Given the description of an element on the screen output the (x, y) to click on. 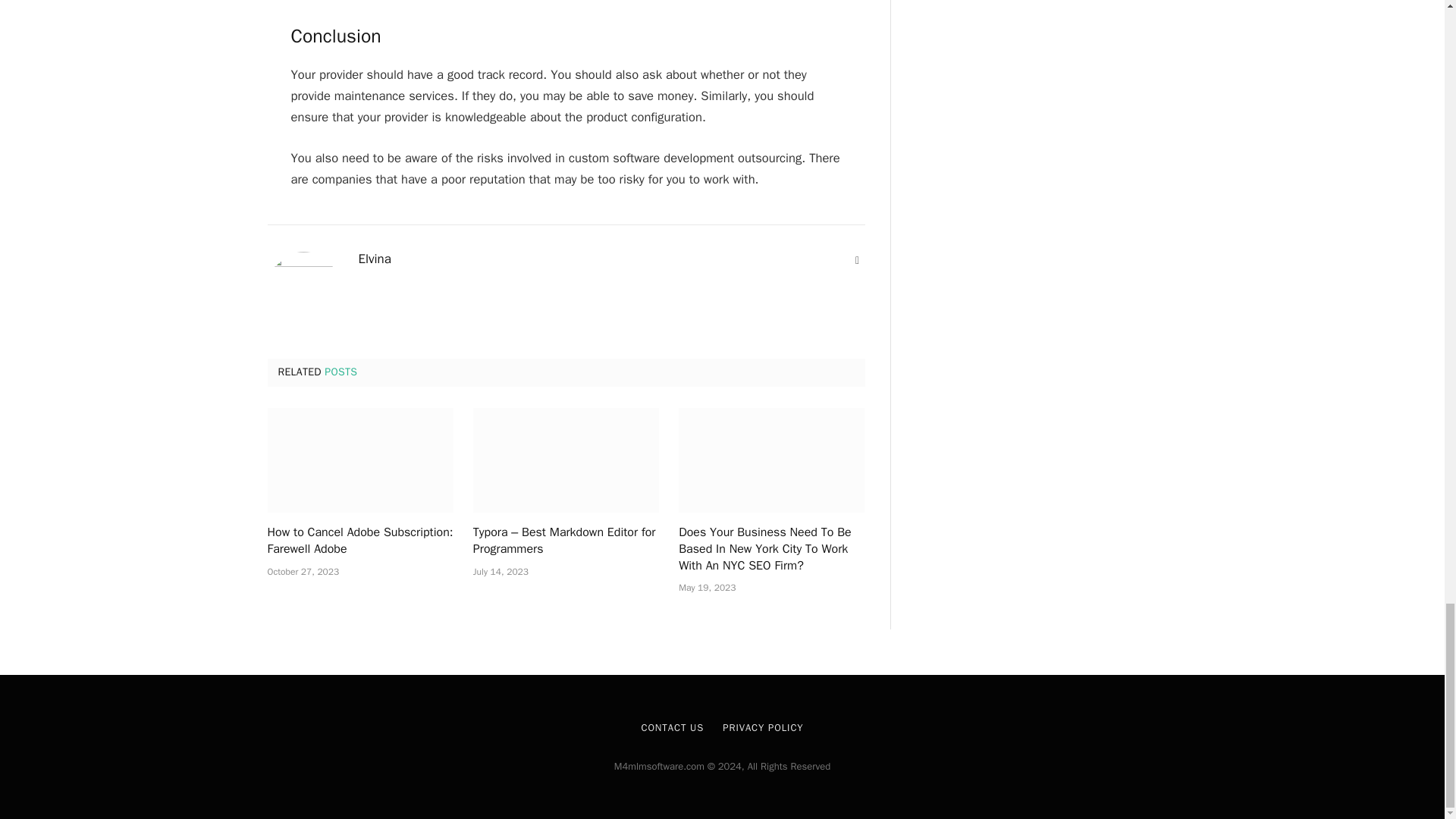
How to Cancel Adobe Subscription: Farewell Adobe (359, 459)
Posts by Elvina (374, 258)
Website (856, 260)
Website (856, 260)
Elvina (374, 258)
How to Cancel Adobe Subscription: Farewell Adobe (359, 540)
